Given the description of an element on the screen output the (x, y) to click on. 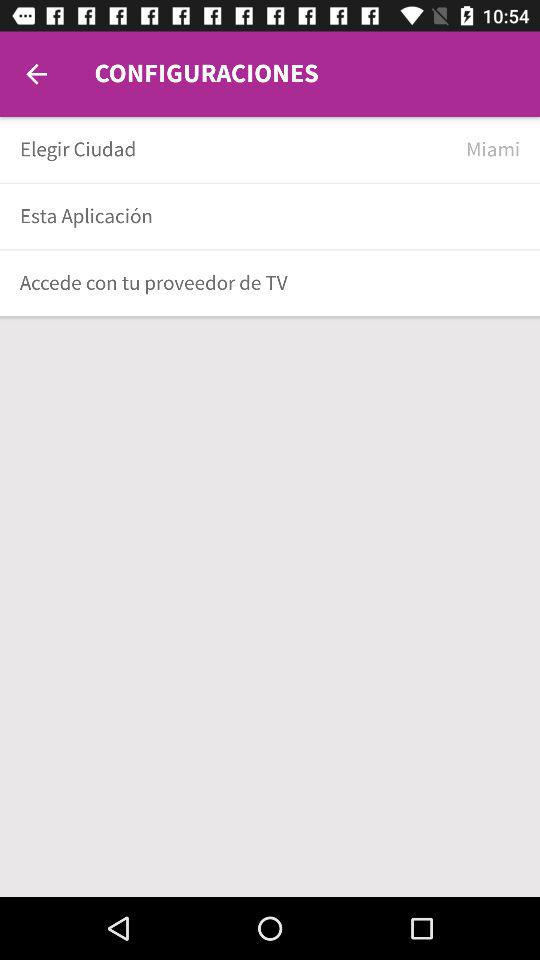
open the item next to the configuraciones item (36, 74)
